Given the description of an element on the screen output the (x, y) to click on. 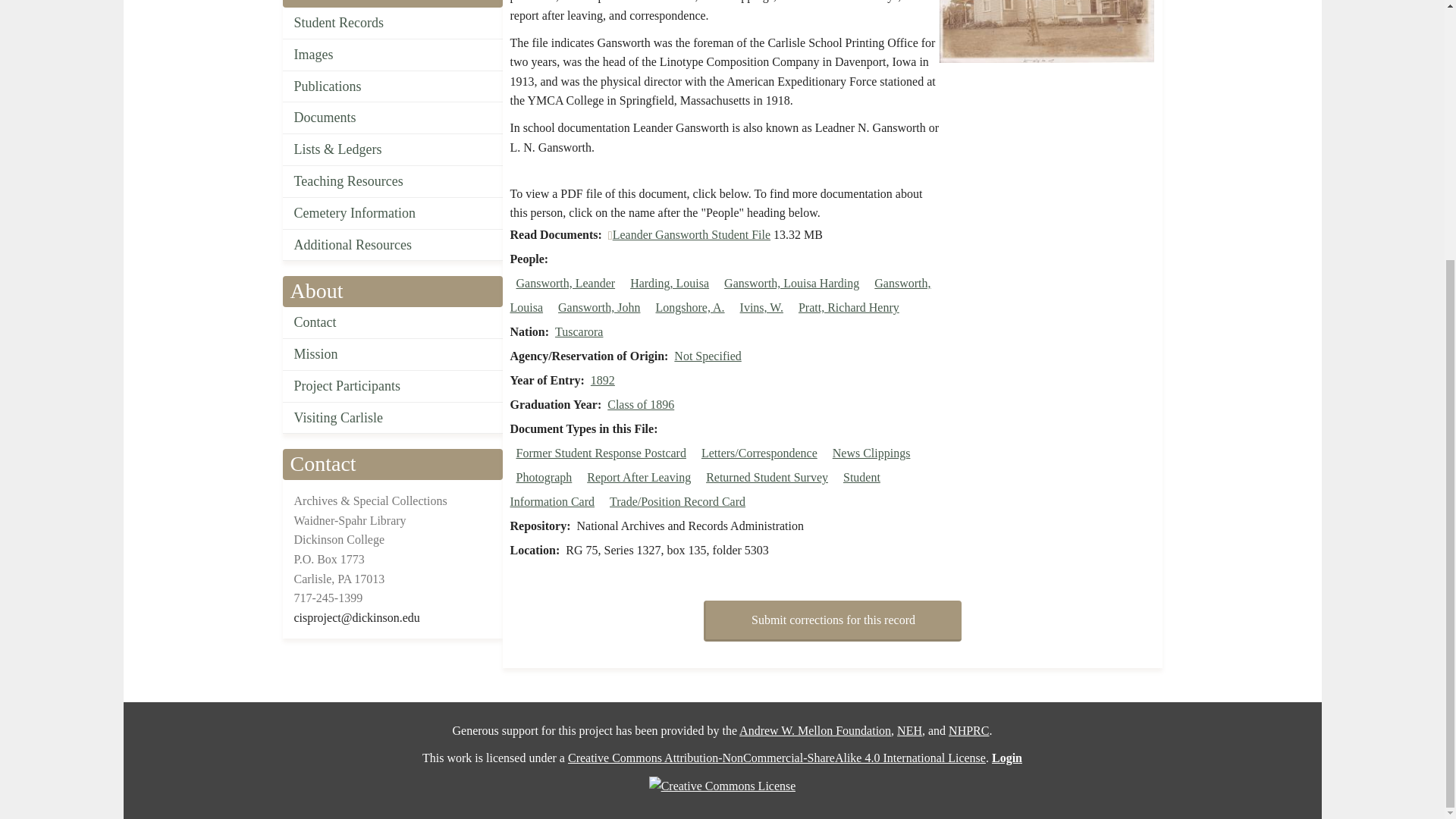
Leander Gansworth Student File (691, 234)
Ivins, W. (761, 307)
Open file in new window (691, 234)
Contact (392, 323)
Not Specified (707, 355)
Pratt, Richard Henry (848, 307)
Project Participants (392, 386)
Documents (392, 118)
Publications (392, 87)
Teaching Resources (392, 182)
